Given the description of an element on the screen output the (x, y) to click on. 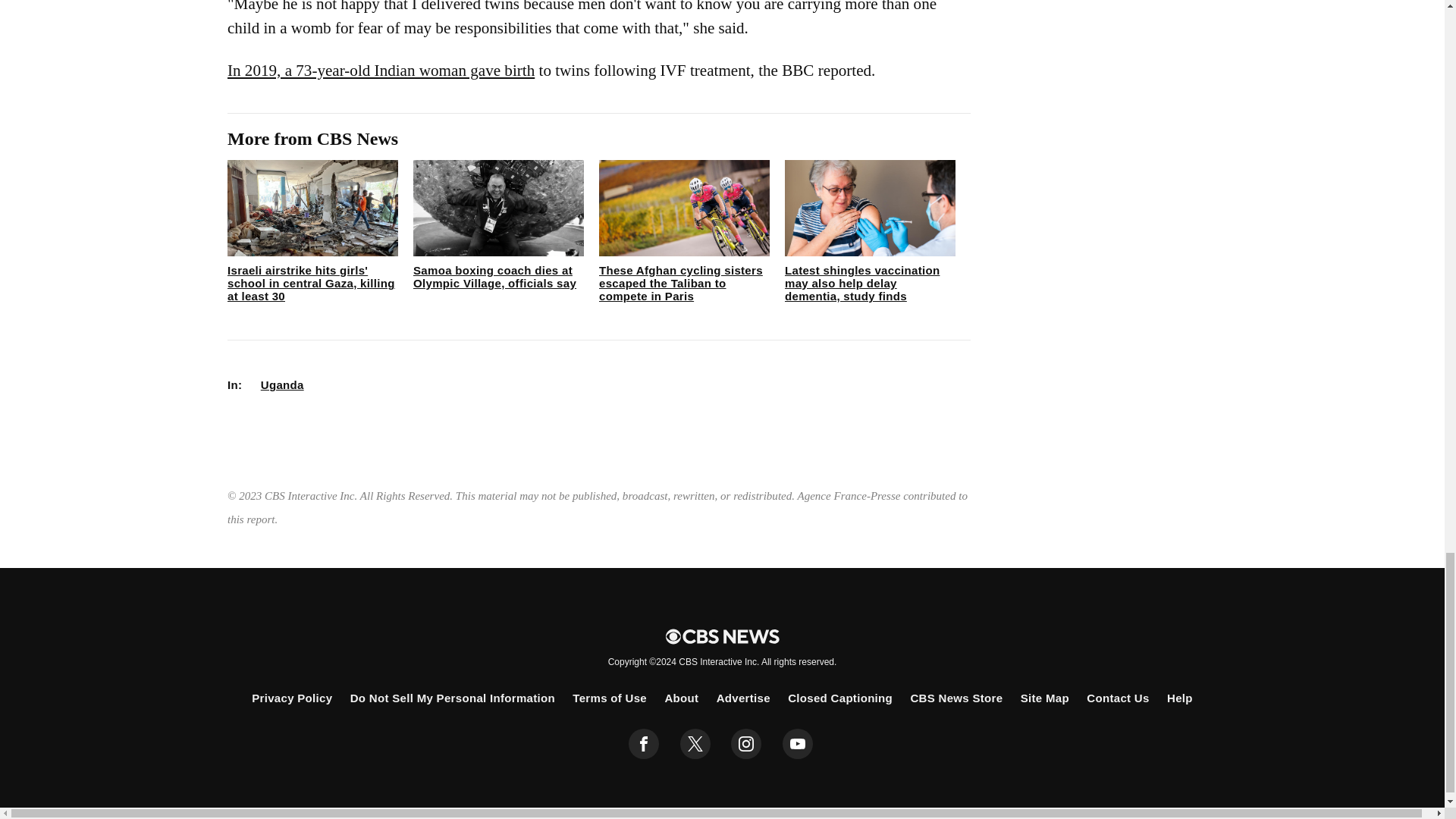
twitter (694, 743)
facebook (643, 743)
youtube (797, 743)
instagram (745, 743)
